Given the description of an element on the screen output the (x, y) to click on. 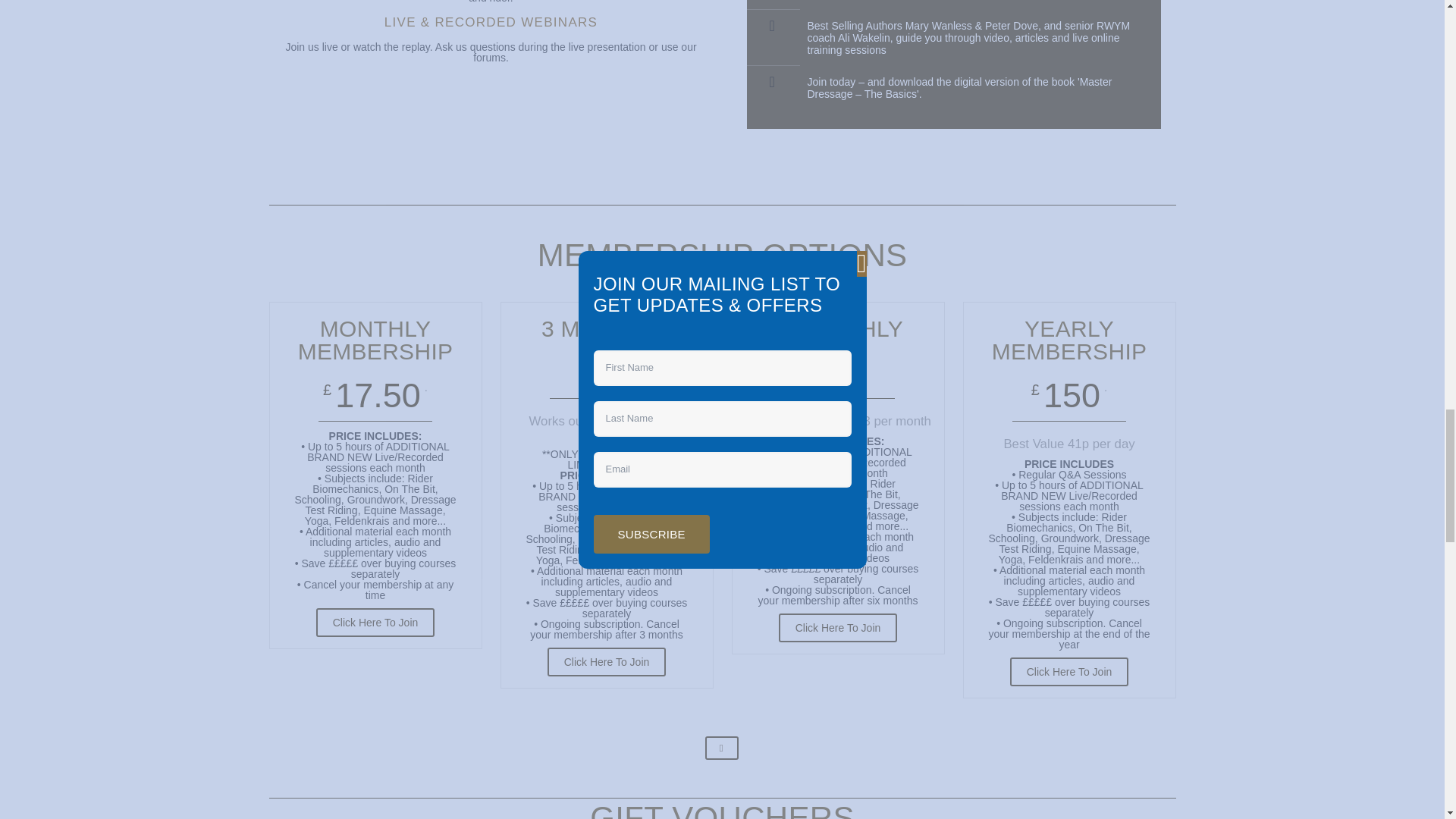
Click Here To Join (606, 661)
Click Here To Join (375, 622)
Click Here To Join (838, 627)
Click Here To Join (1069, 671)
Click Here To Join (375, 622)
Click Here To Join (1069, 671)
Click Here To Join (838, 627)
Click Here To Join (606, 661)
